Given the description of an element on the screen output the (x, y) to click on. 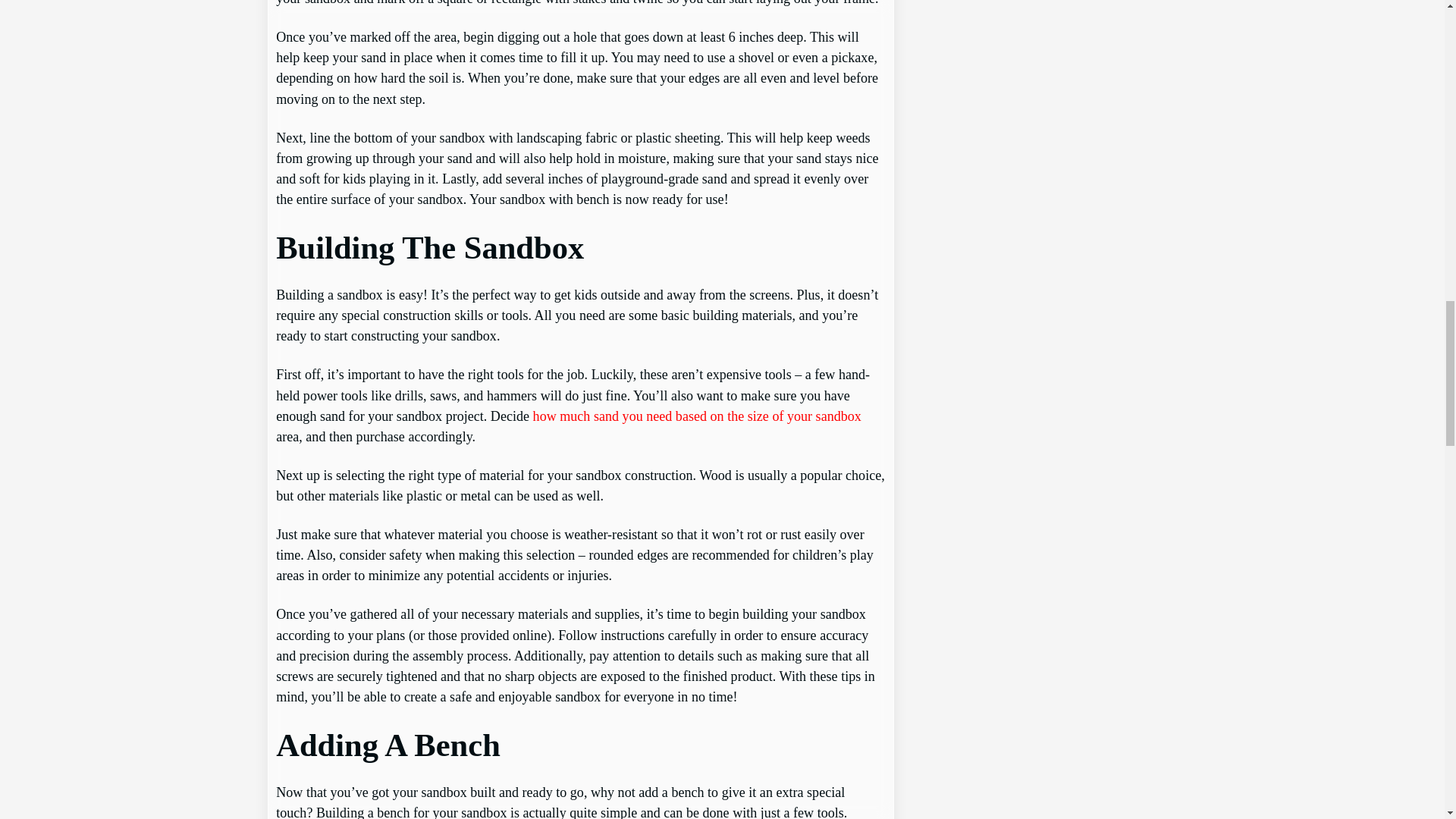
how much sand you need based on the size of your sandbox (696, 416)
